Given the description of an element on the screen output the (x, y) to click on. 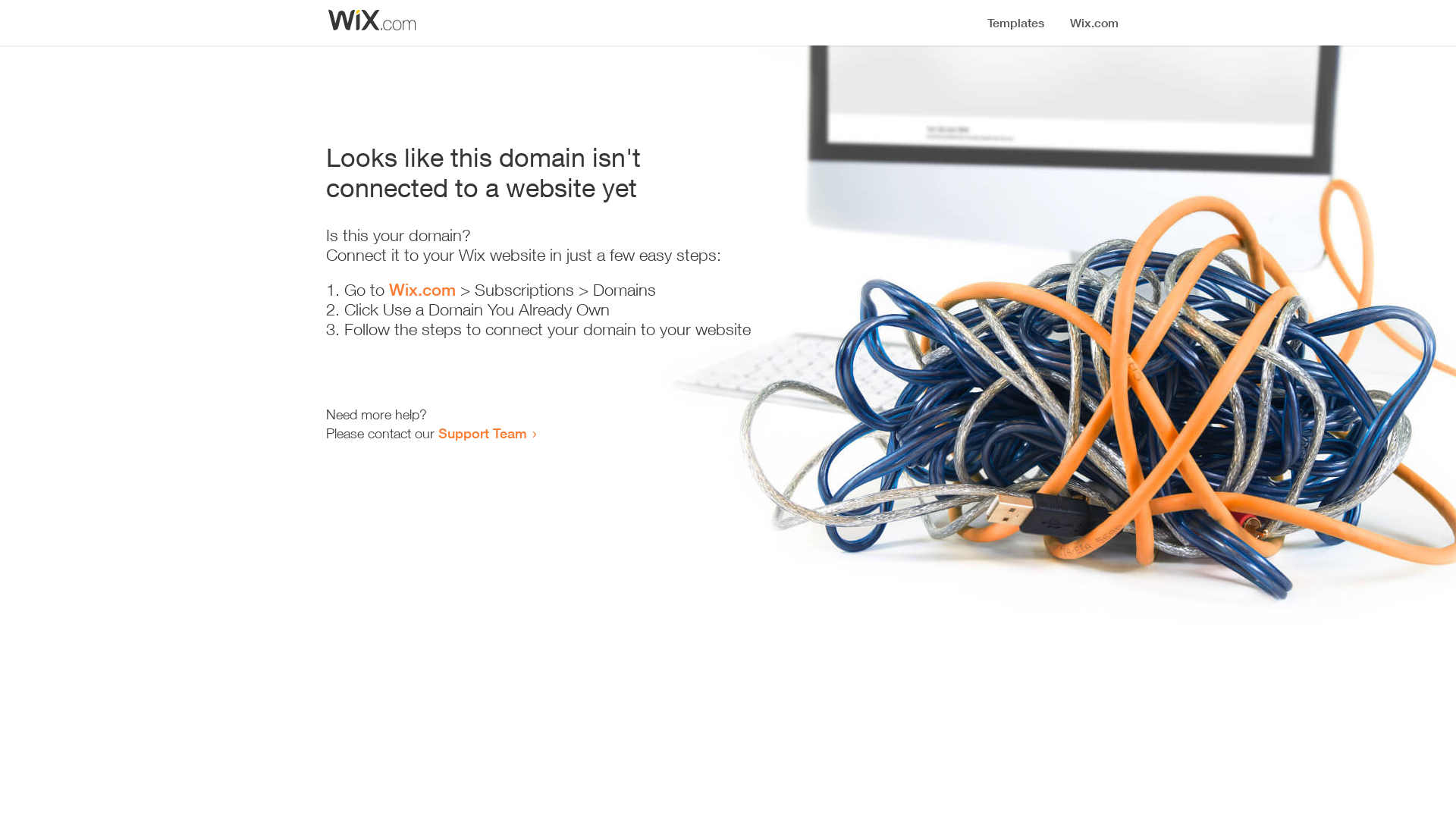
Wix.com Element type: text (422, 289)
Support Team Element type: text (482, 432)
